Given the description of an element on the screen output the (x, y) to click on. 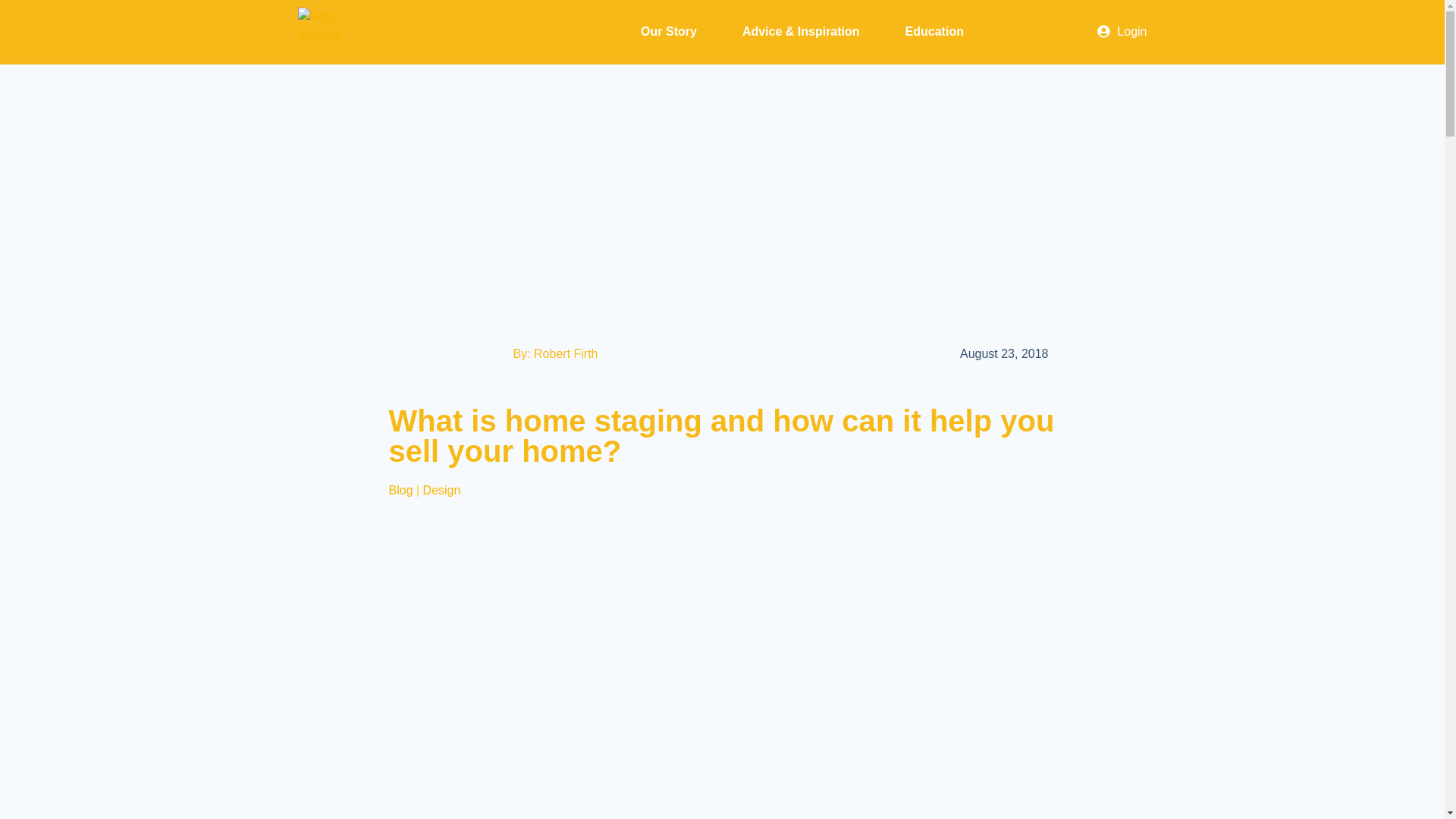
Design (442, 490)
Our Story (668, 31)
Login (1122, 31)
Education (934, 31)
By: Robert Firth (554, 353)
Blog (400, 490)
What is home staging and how can it help you sell your home? (721, 435)
